Given the description of an element on the screen output the (x, y) to click on. 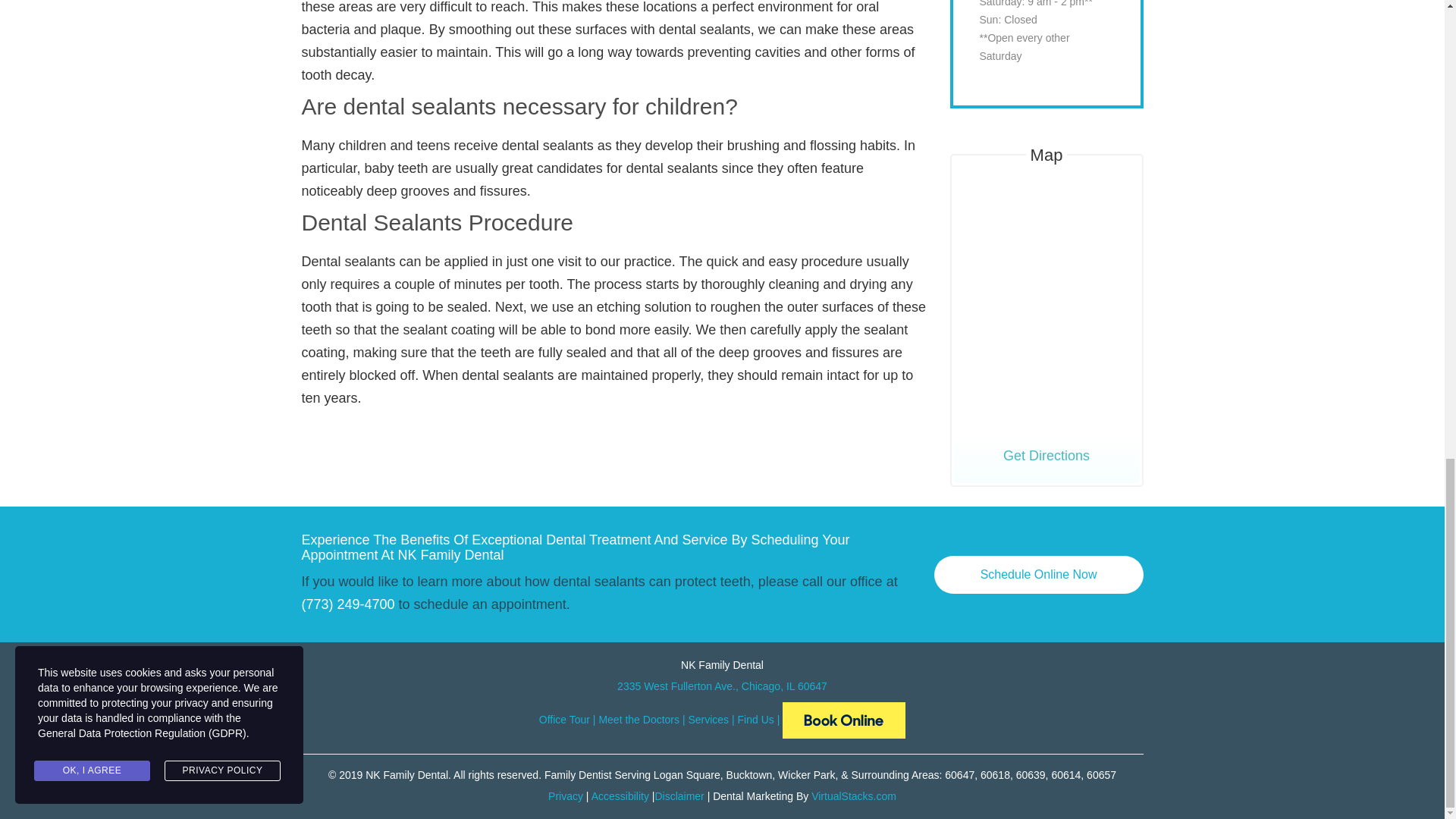
NK FAMILY DENTAL  (844, 719)
NK FAMILY DENTAL  (844, 719)
